Given the description of an element on the screen output the (x, y) to click on. 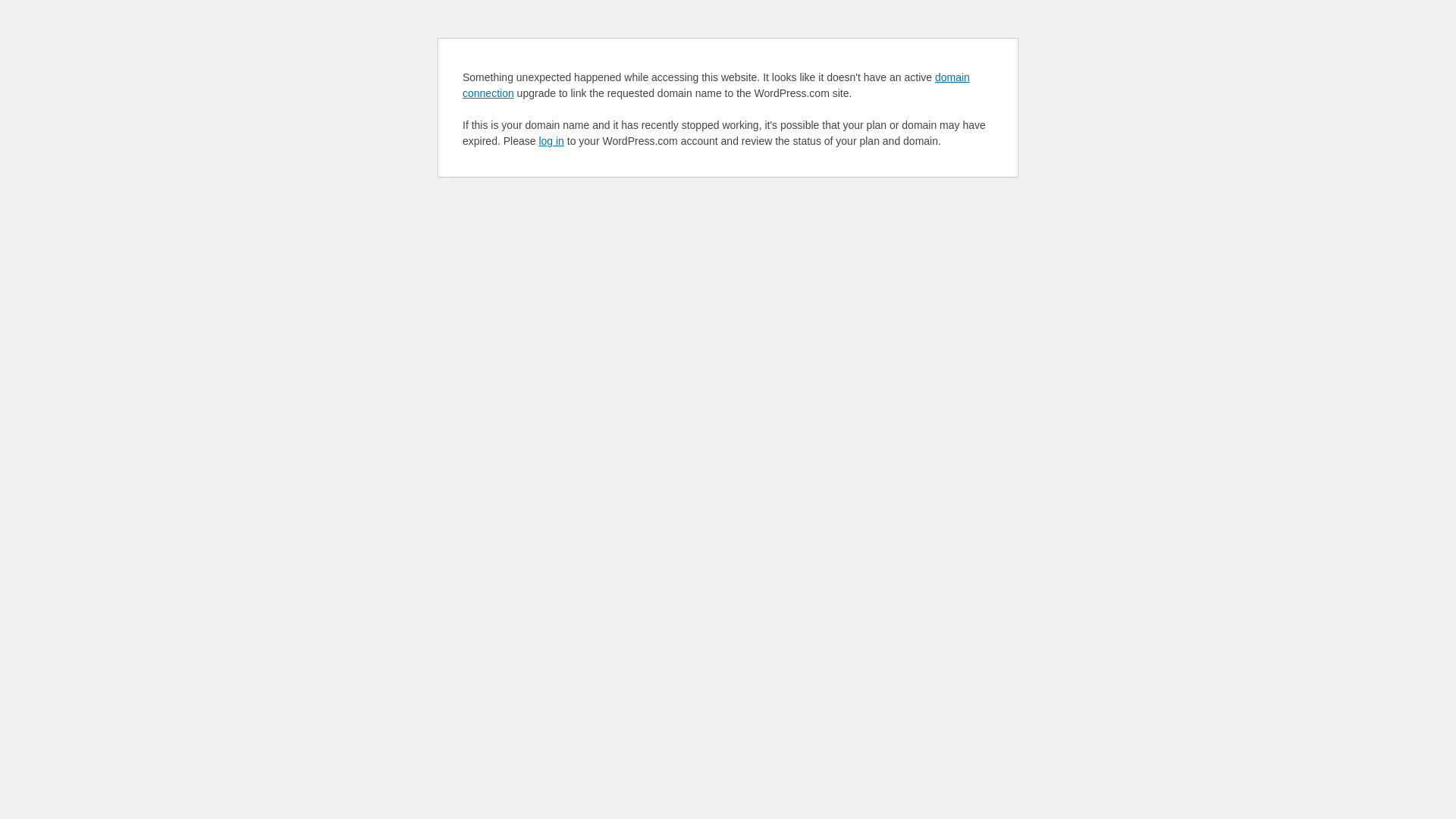
domain connection Element type: text (715, 85)
log in Element type: text (550, 140)
